Given the description of an element on the screen output the (x, y) to click on. 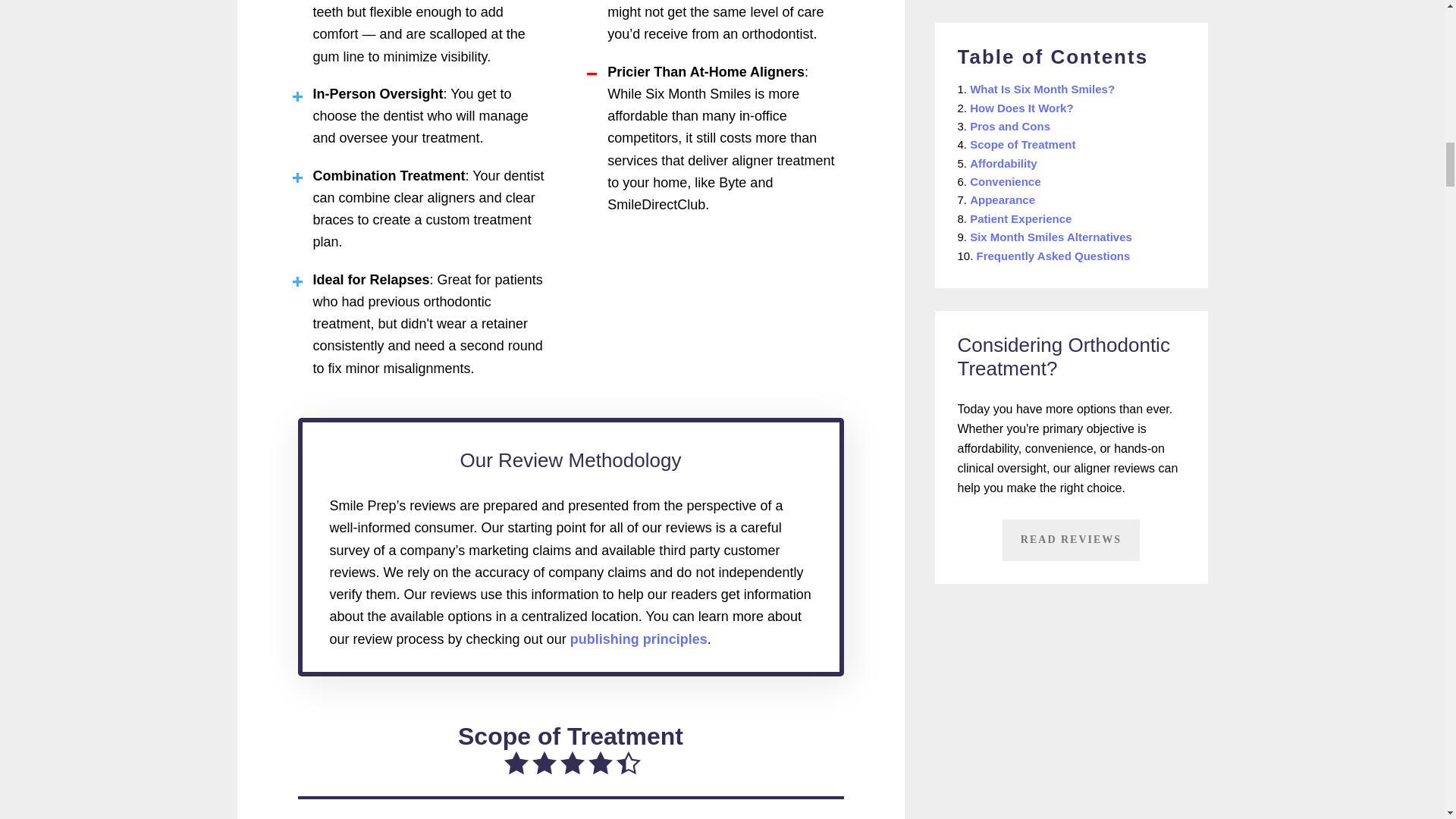
publishing principles (638, 639)
